Given the description of an element on the screen output the (x, y) to click on. 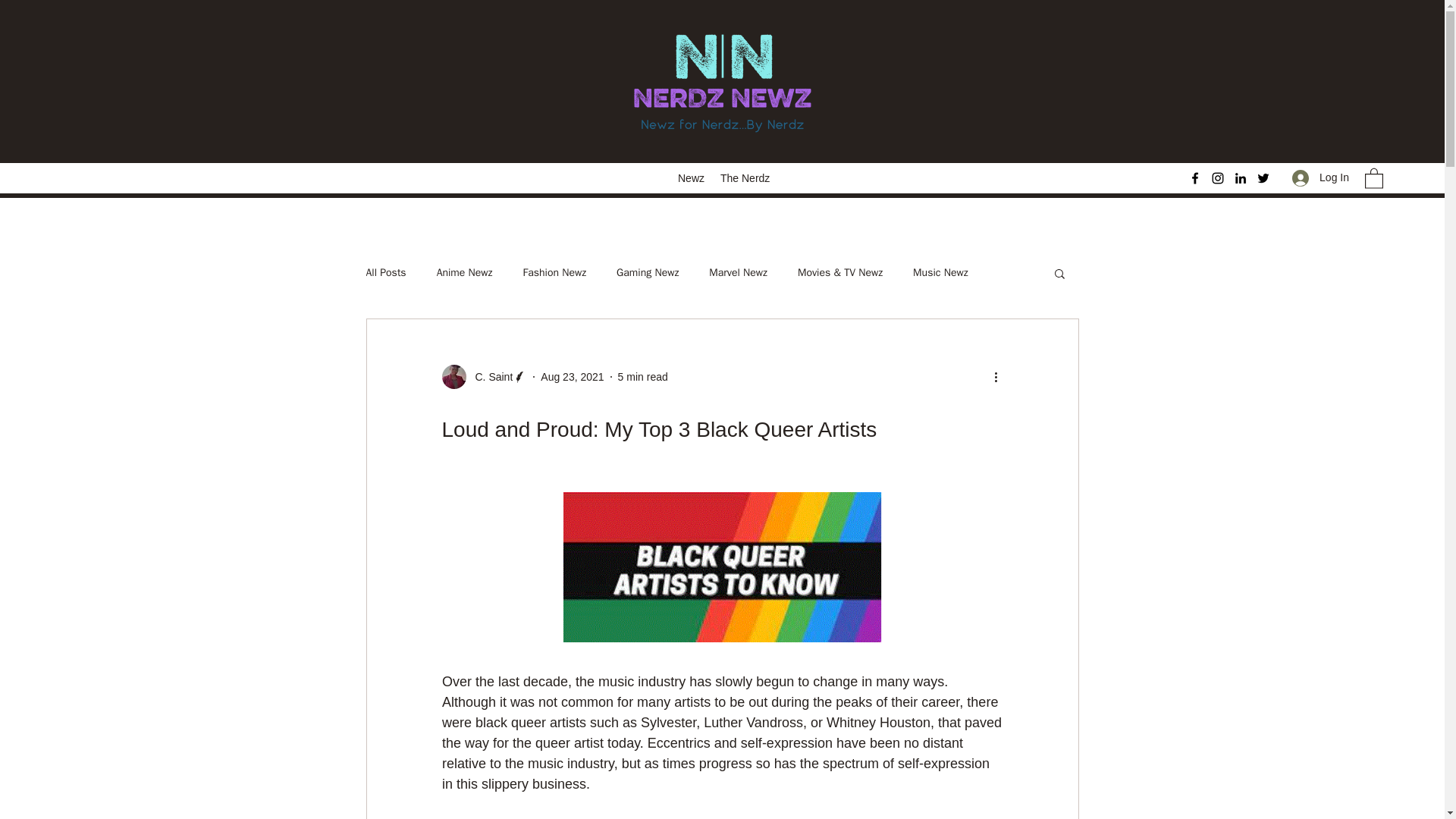
All Posts (385, 273)
Gaming Newz (646, 273)
The Nerdz (743, 178)
Log In (1320, 177)
Fashion Newz (554, 273)
5 min read (642, 376)
Aug 23, 2021 (572, 376)
Marvel Newz (738, 273)
C. Saint (488, 376)
Music Newz (940, 273)
C. Saint (484, 376)
Anime Newz (464, 273)
Newz (691, 178)
